Given the description of an element on the screen output the (x, y) to click on. 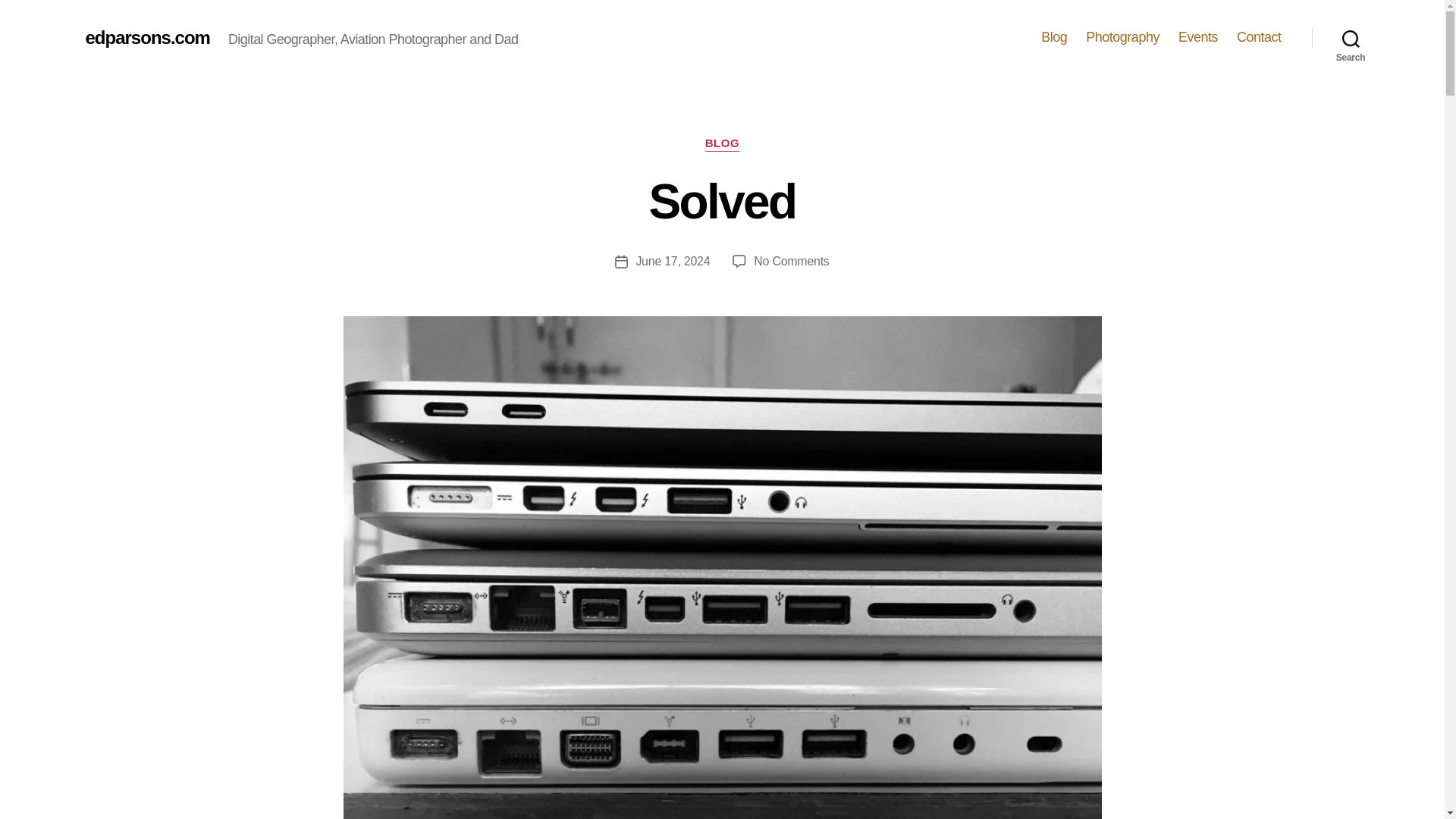
Contact (1258, 37)
June 17, 2024 (672, 260)
Search (1350, 37)
Events (1197, 37)
Solved (722, 201)
Blog (791, 260)
Photography (1054, 37)
edparsons.com (1122, 37)
BLOG (146, 37)
